Given the description of an element on the screen output the (x, y) to click on. 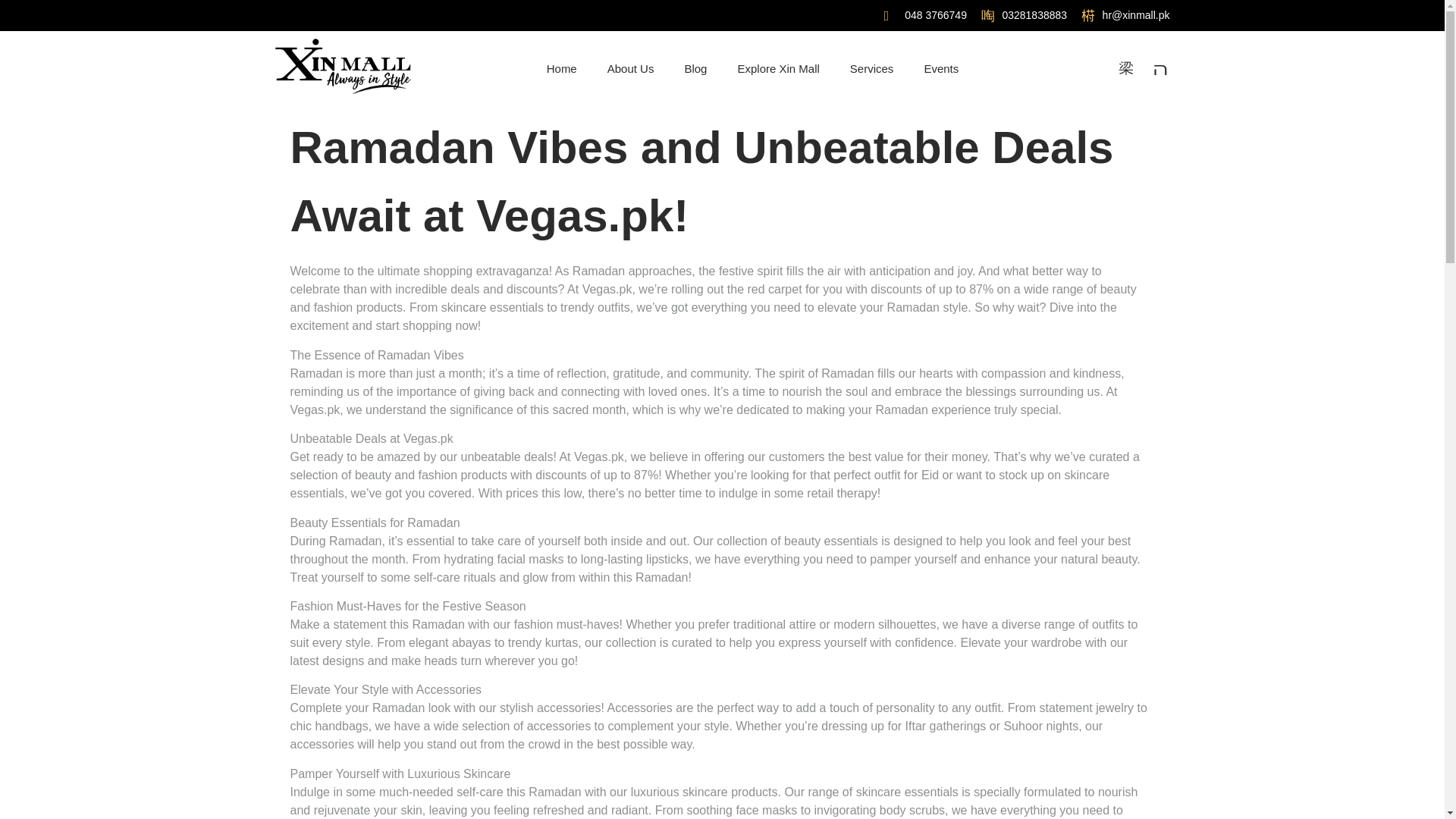
Services (871, 68)
About Us (630, 68)
Blog (695, 68)
Explore Xin Mall (778, 68)
03281838883 (1024, 15)
Home (561, 68)
Events (941, 68)
048 3766749 (924, 15)
